Given the description of an element on the screen output the (x, y) to click on. 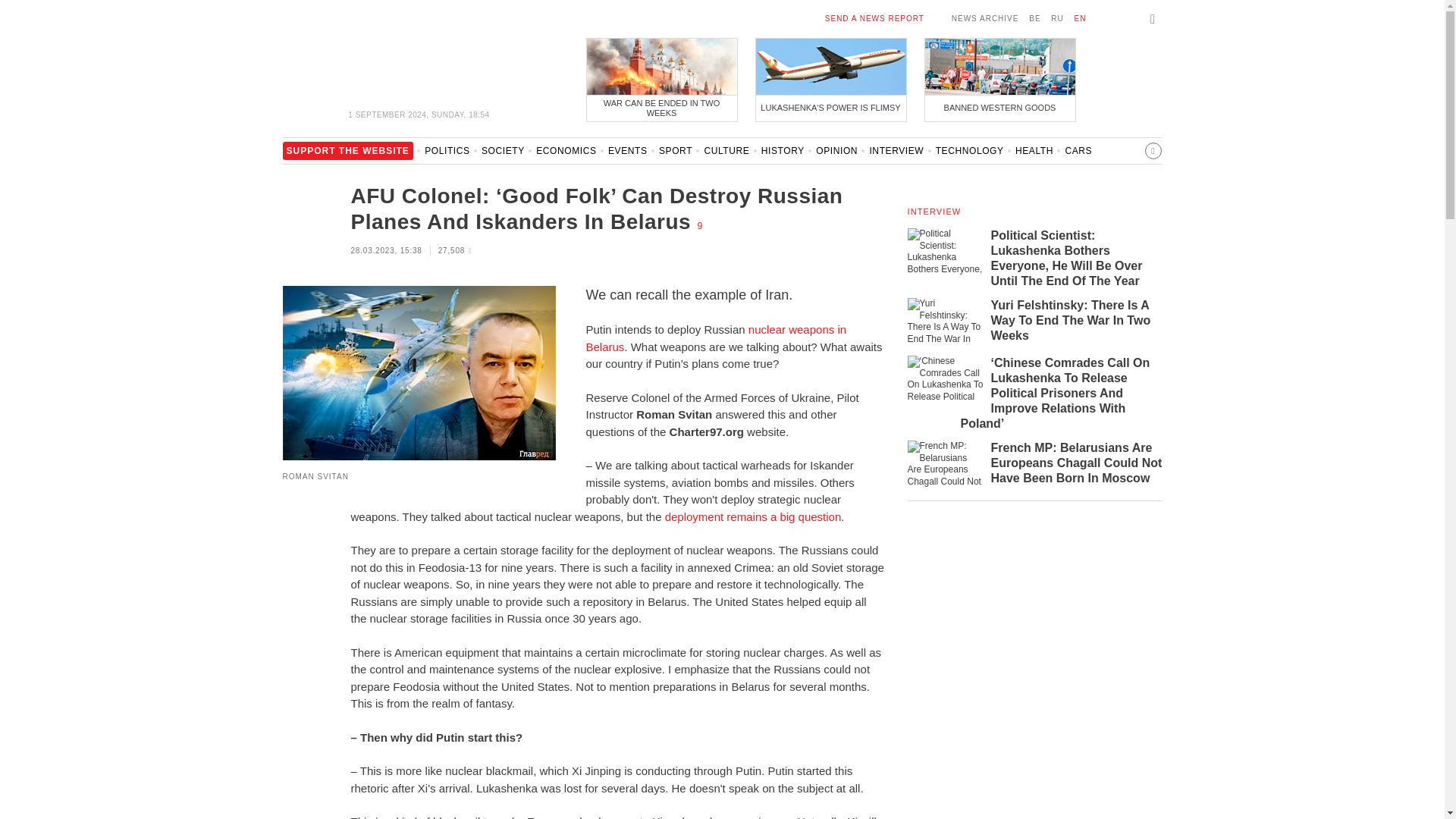
BE (1035, 18)
SOCIETY (502, 155)
EVENTS (627, 155)
LUKASHENKA'S POWER IS FLIMSY (830, 79)
HEALTH (1033, 155)
OPINION (836, 155)
SPORT (676, 155)
SEND A NEWS REPORT (874, 18)
SUPPORT THE WEBSITE (347, 155)
ECONOMICS (565, 155)
